Given the description of an element on the screen output the (x, y) to click on. 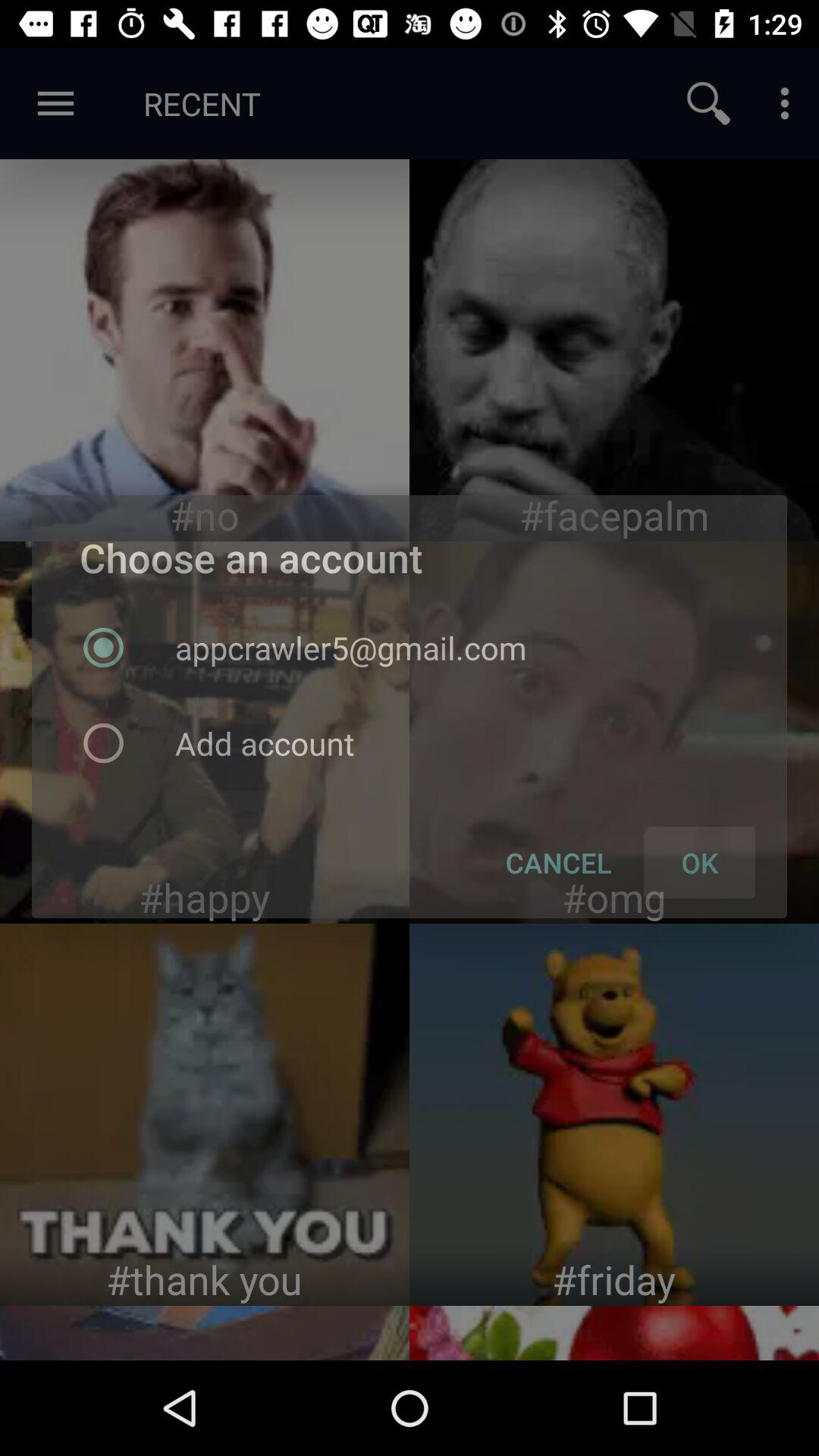
change zoom level (708, 103)
